Given the description of an element on the screen output the (x, y) to click on. 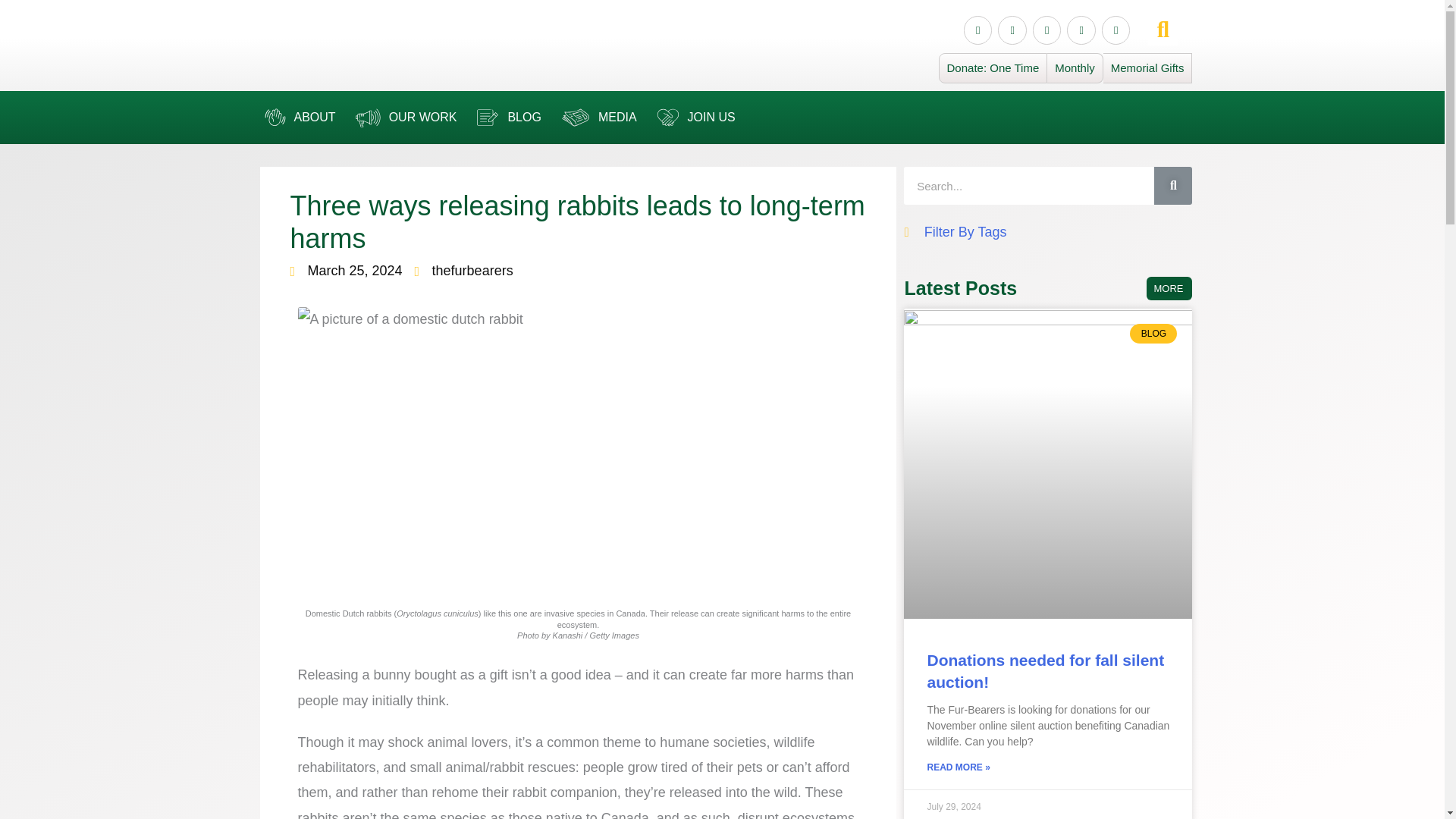
Search (1029, 185)
Search (1173, 185)
OUR WORK (403, 117)
Donate: One Time (993, 68)
Monthly (1074, 68)
Memorial Gifts (1147, 68)
ABOUT (296, 117)
